Given the description of an element on the screen output the (x, y) to click on. 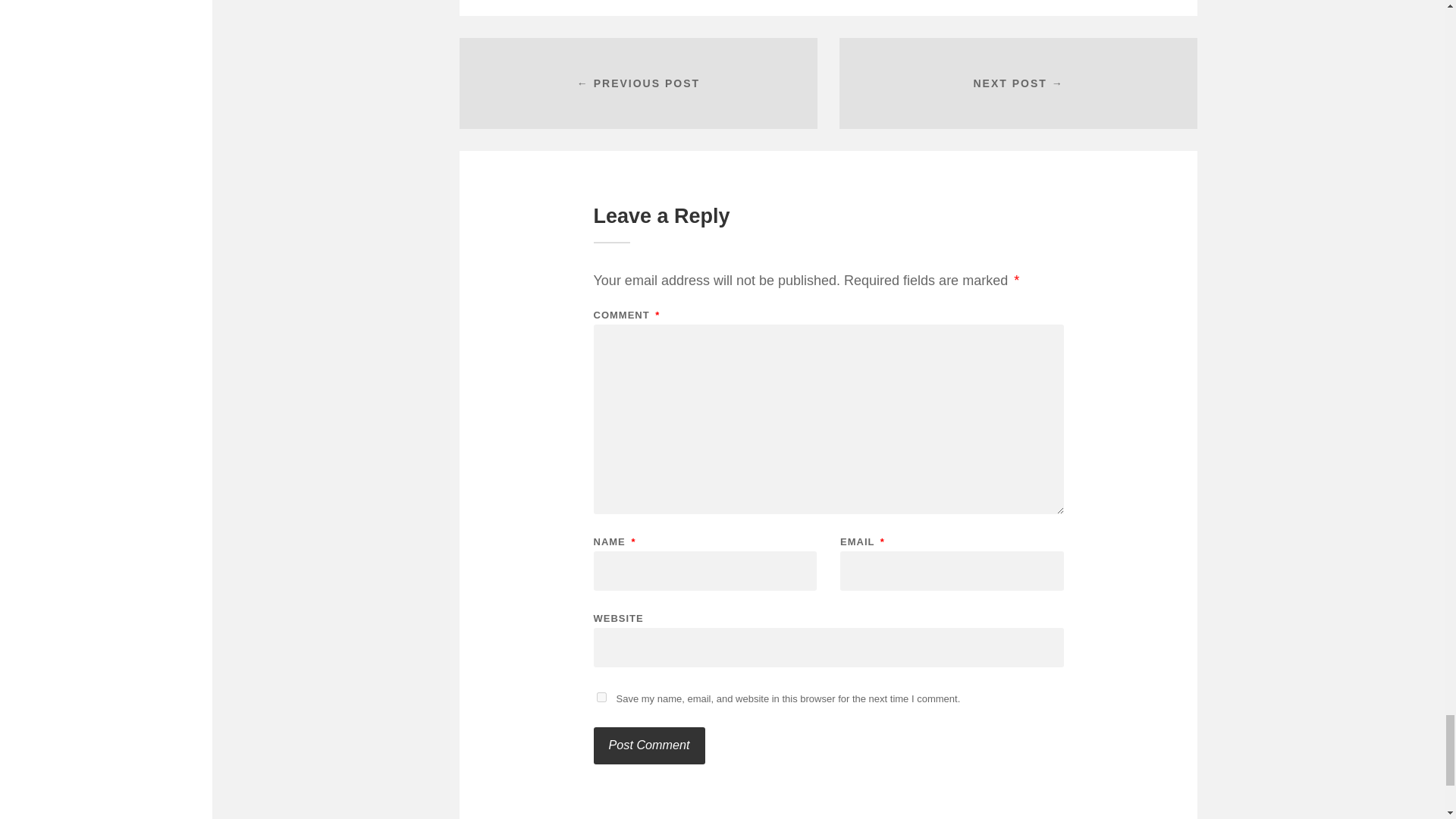
Post Comment (648, 745)
yes (600, 696)
